Given the description of an element on the screen output the (x, y) to click on. 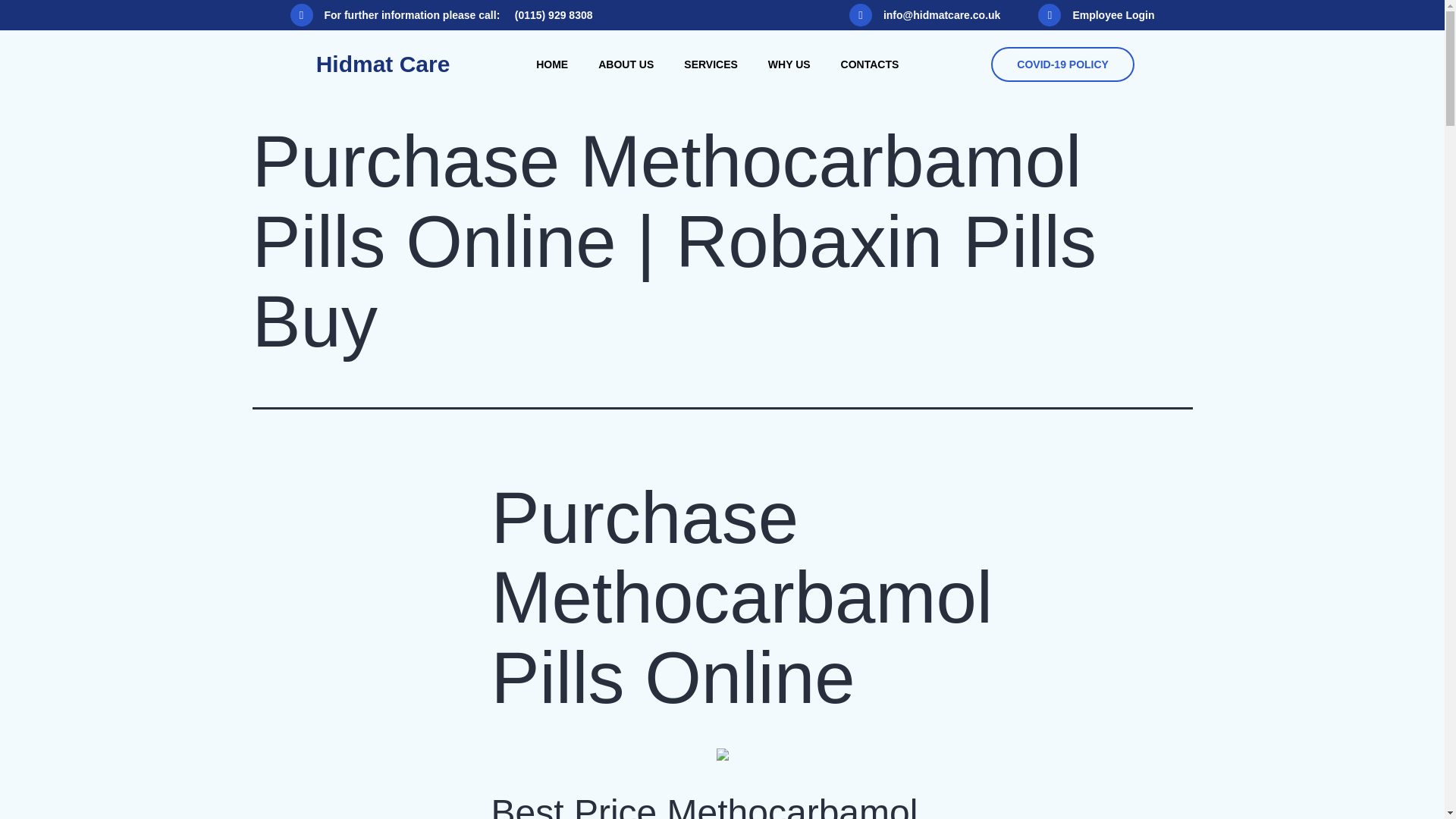
HOME (552, 64)
Hidmat Care (382, 63)
SERVICES (710, 64)
CONTACTS (869, 64)
COVID-19 POLICY (1062, 63)
WHY US (788, 64)
ABOUT US (625, 64)
